Given the description of an element on the screen output the (x, y) to click on. 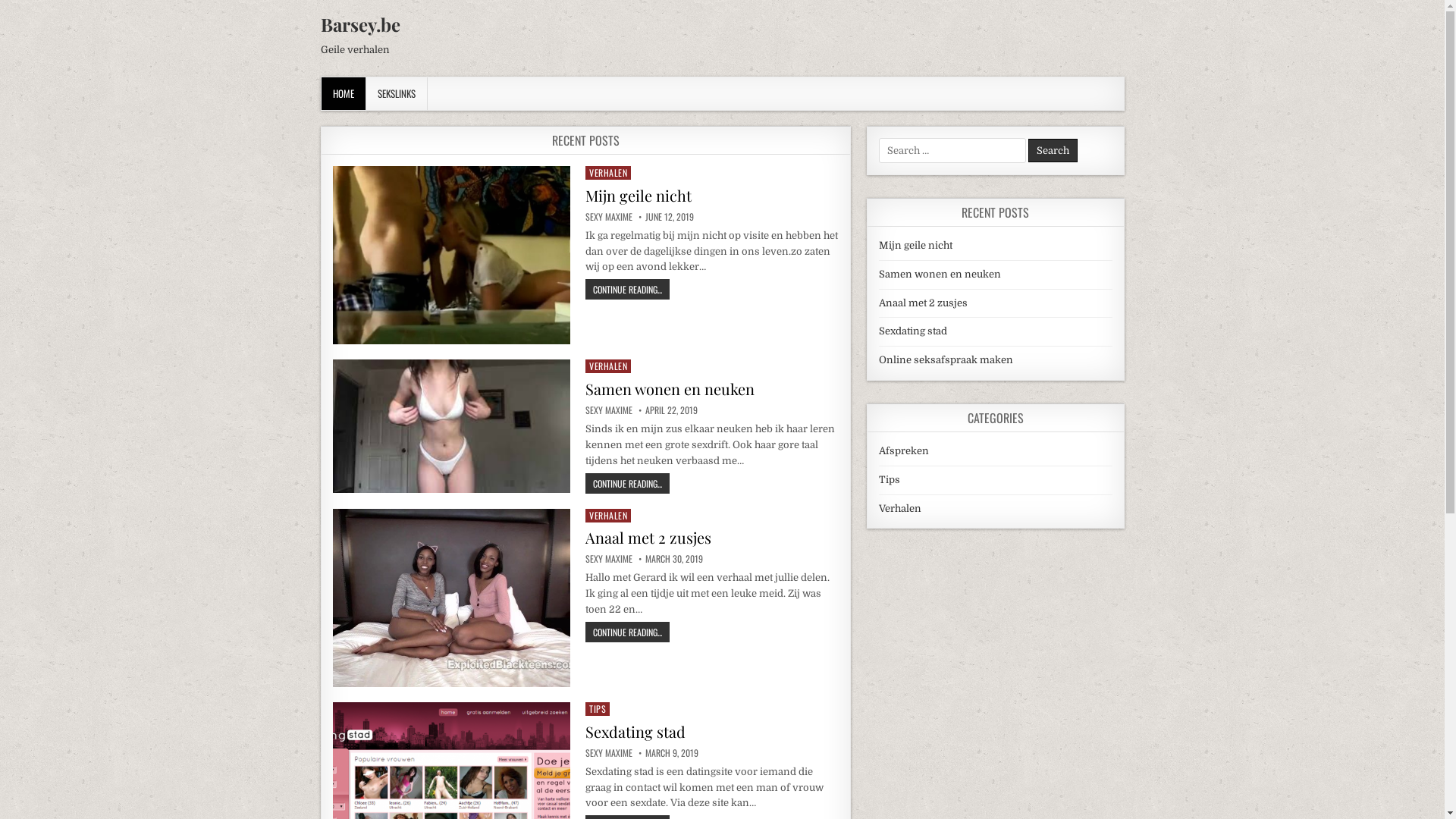
Permanent Link to Anaal met 2 zusjes Element type: hover (451, 597)
CONTINUE READING...
ANAAL MET 2 ZUSJES Element type: text (627, 631)
CONTINUE READING...
MIJN GEILE NICHT Element type: text (627, 289)
Anaal met 2 zusjes Element type: text (922, 302)
VERHALEN Element type: text (607, 366)
AUTHOR:
SEXY MAXIME Element type: text (608, 752)
SEKSLINKS Element type: text (395, 93)
TIPS Element type: text (597, 708)
Verhalen Element type: text (899, 508)
VERHALEN Element type: text (607, 515)
Barsey.be Element type: text (359, 24)
Sexdating stad Element type: text (635, 731)
Sexdating stad Element type: text (912, 330)
Samen wonen en neuken Element type: text (669, 388)
HOME Element type: text (343, 93)
Permanent Link to Mijn geile nicht Element type: hover (451, 255)
AUTHOR:
SEXY MAXIME Element type: text (608, 216)
AUTHOR:
SEXY MAXIME Element type: text (608, 409)
Online seksafspraak maken Element type: text (945, 359)
Samen wonen en neuken Element type: text (939, 273)
Afspreken Element type: text (903, 450)
AUTHOR:
SEXY MAXIME Element type: text (608, 558)
CONTINUE READING...
SAMEN WONEN EN NEUKEN Element type: text (627, 483)
Mijn geile nicht Element type: text (915, 245)
Anaal met 2 zusjes Element type: text (648, 537)
VERHALEN Element type: text (607, 172)
Search Element type: text (1052, 150)
Permanent Link to Samen wonen en neuken Element type: hover (451, 425)
Tips Element type: text (889, 479)
Mijn geile nicht Element type: text (638, 195)
